Given the description of an element on the screen output the (x, y) to click on. 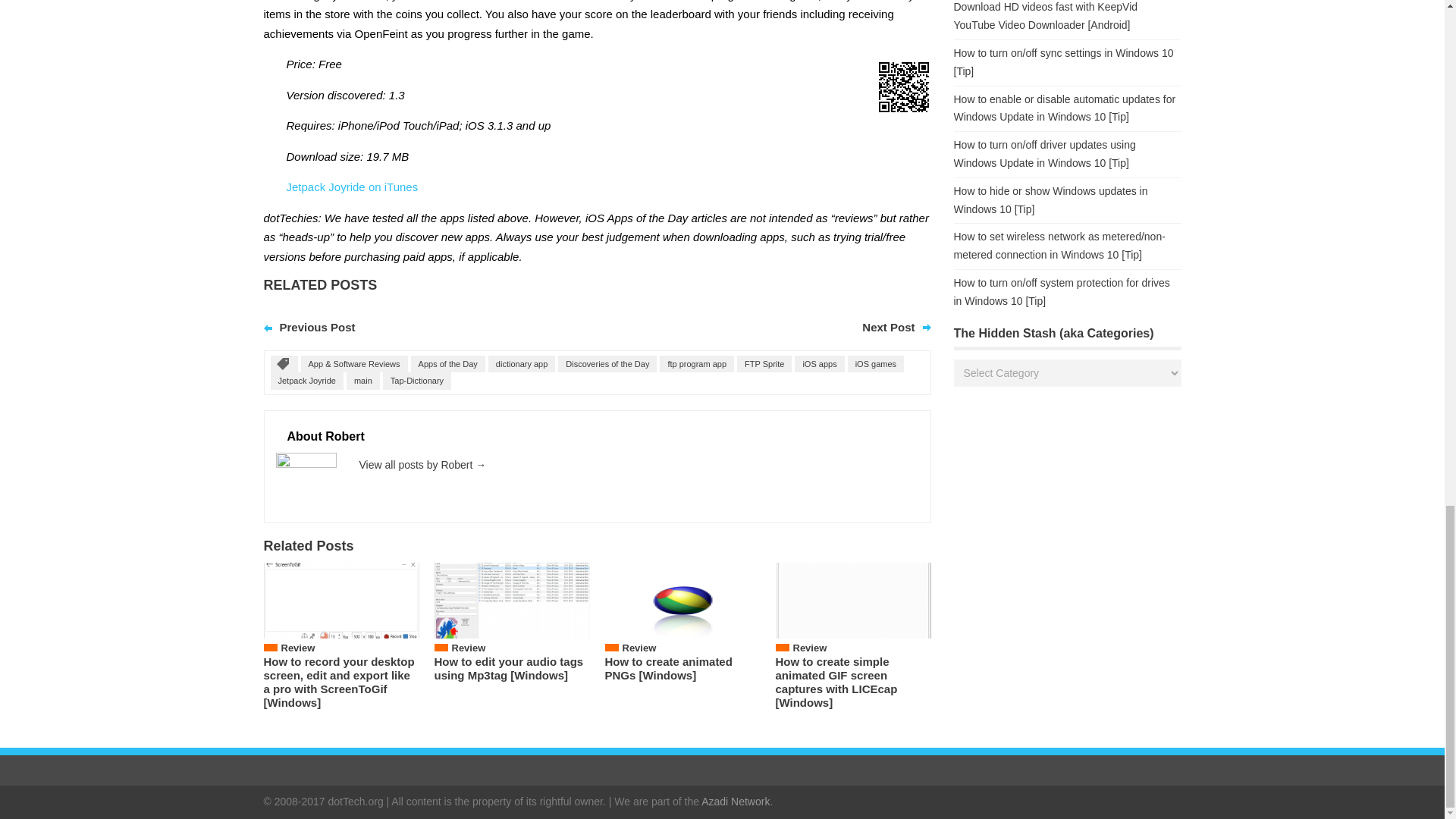
Next Post (887, 327)
Jetpack Joyride on iTunes (352, 186)
Previous Post (317, 327)
Apps of the Day (447, 364)
